Given the description of an element on the screen output the (x, y) to click on. 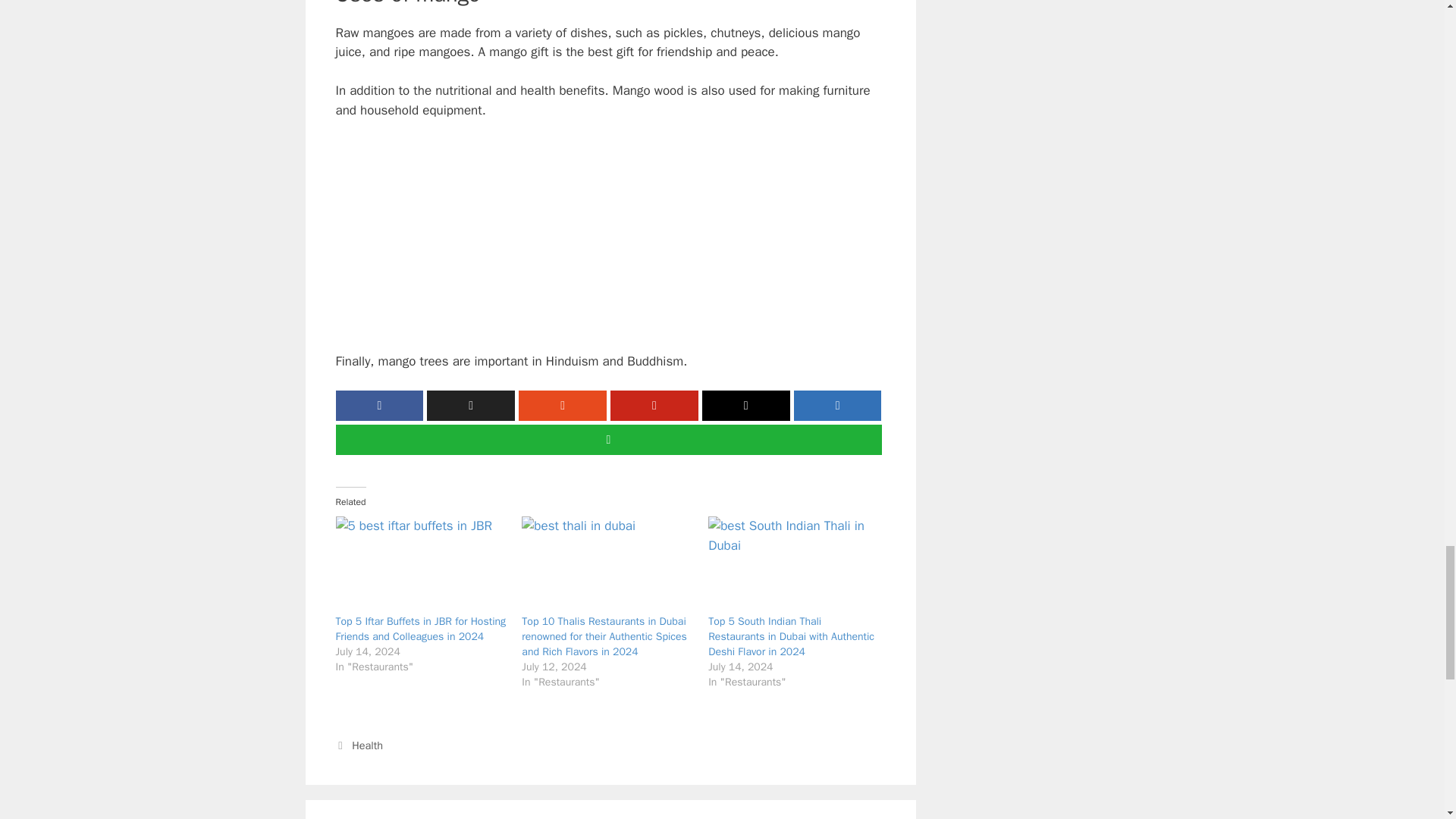
Health (367, 745)
